Given the description of an element on the screen output the (x, y) to click on. 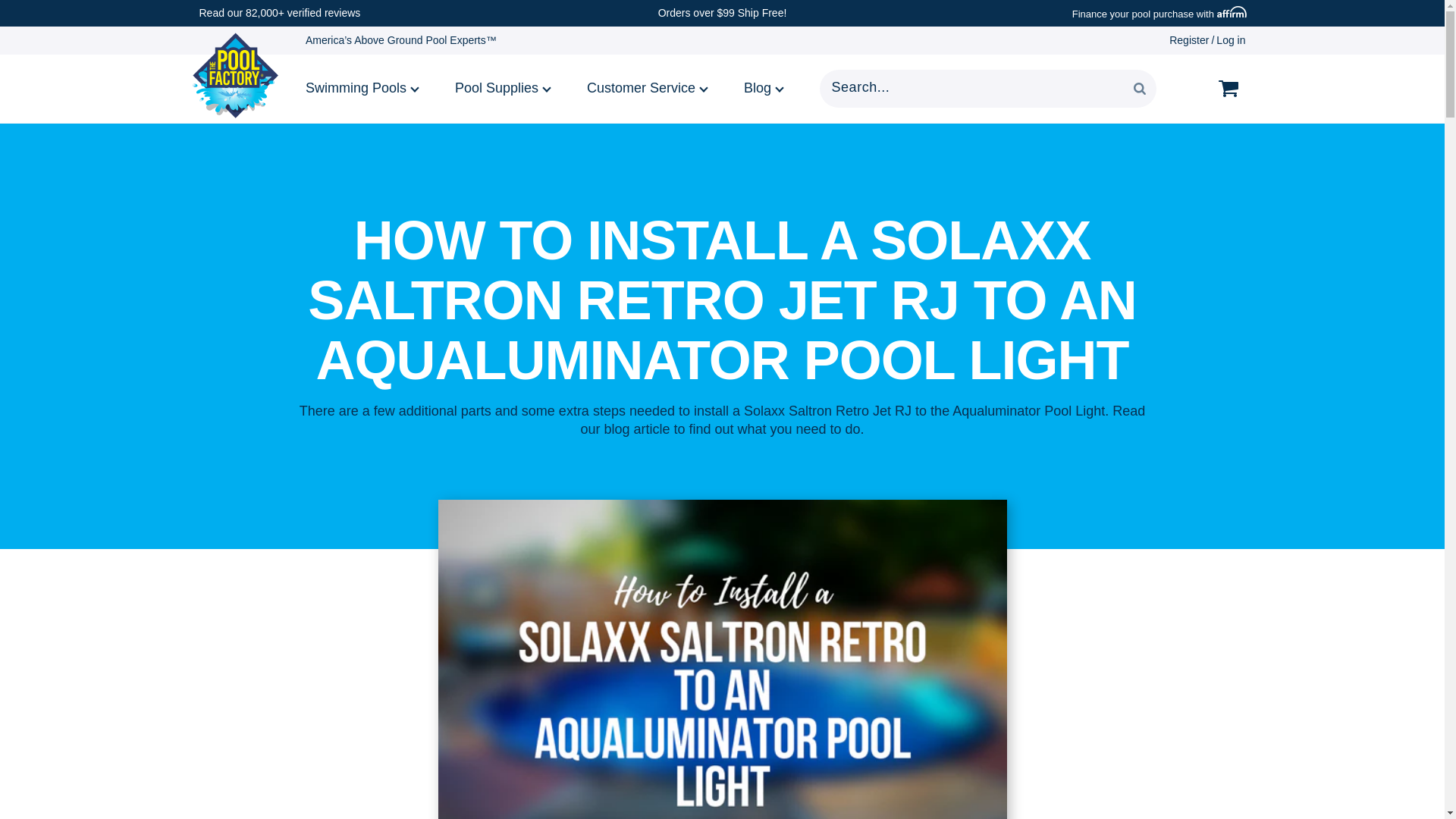
Customer Service (648, 88)
Register (1188, 39)
Pool Supplies (503, 88)
The Pool Factory (235, 74)
Swimming Pools (363, 88)
Log in (1229, 39)
